Given the description of an element on the screen output the (x, y) to click on. 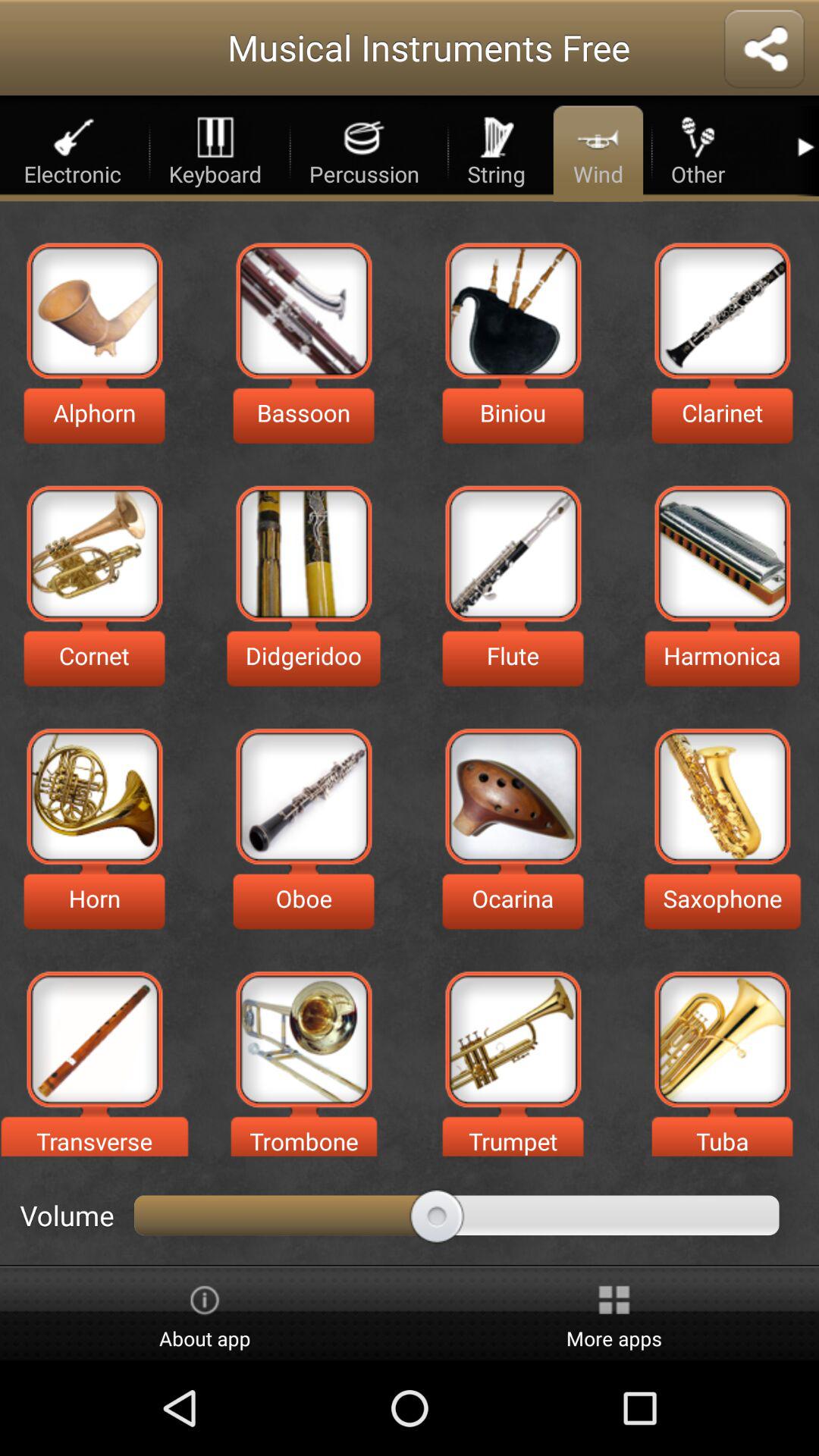
click the musical instruments music (513, 796)
